Given the description of an element on the screen output the (x, y) to click on. 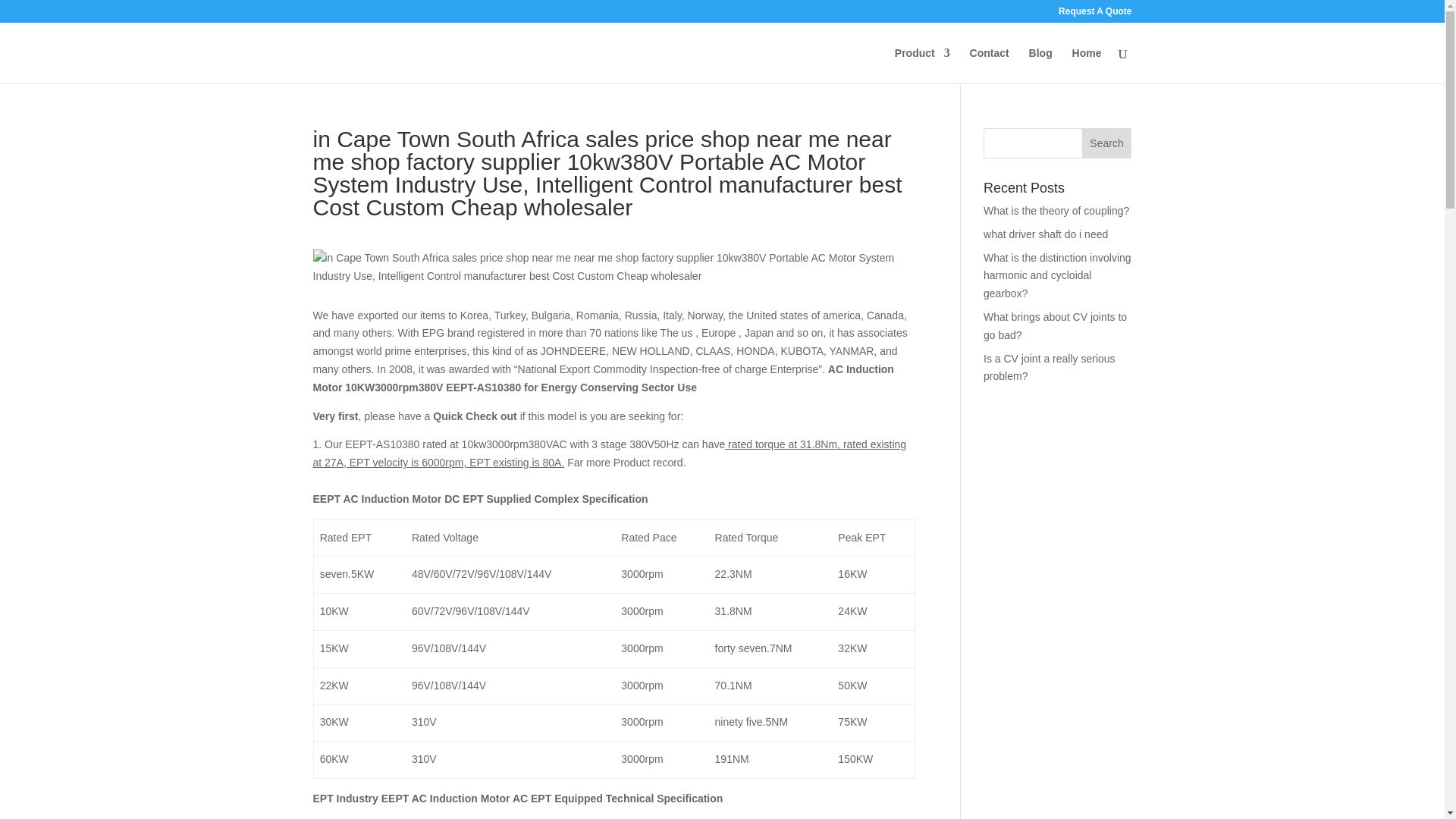
what driver shaft do i need (1046, 234)
Search (1106, 142)
What is the theory of coupling? (1056, 210)
Contact (989, 65)
Search (1106, 142)
Blog (1040, 65)
Product (922, 65)
Request A Quote (1094, 14)
What brings about CV joints to go bad? (1055, 326)
Home (1086, 65)
Is a CV joint a really serious problem? (1049, 367)
